Given the description of an element on the screen output the (x, y) to click on. 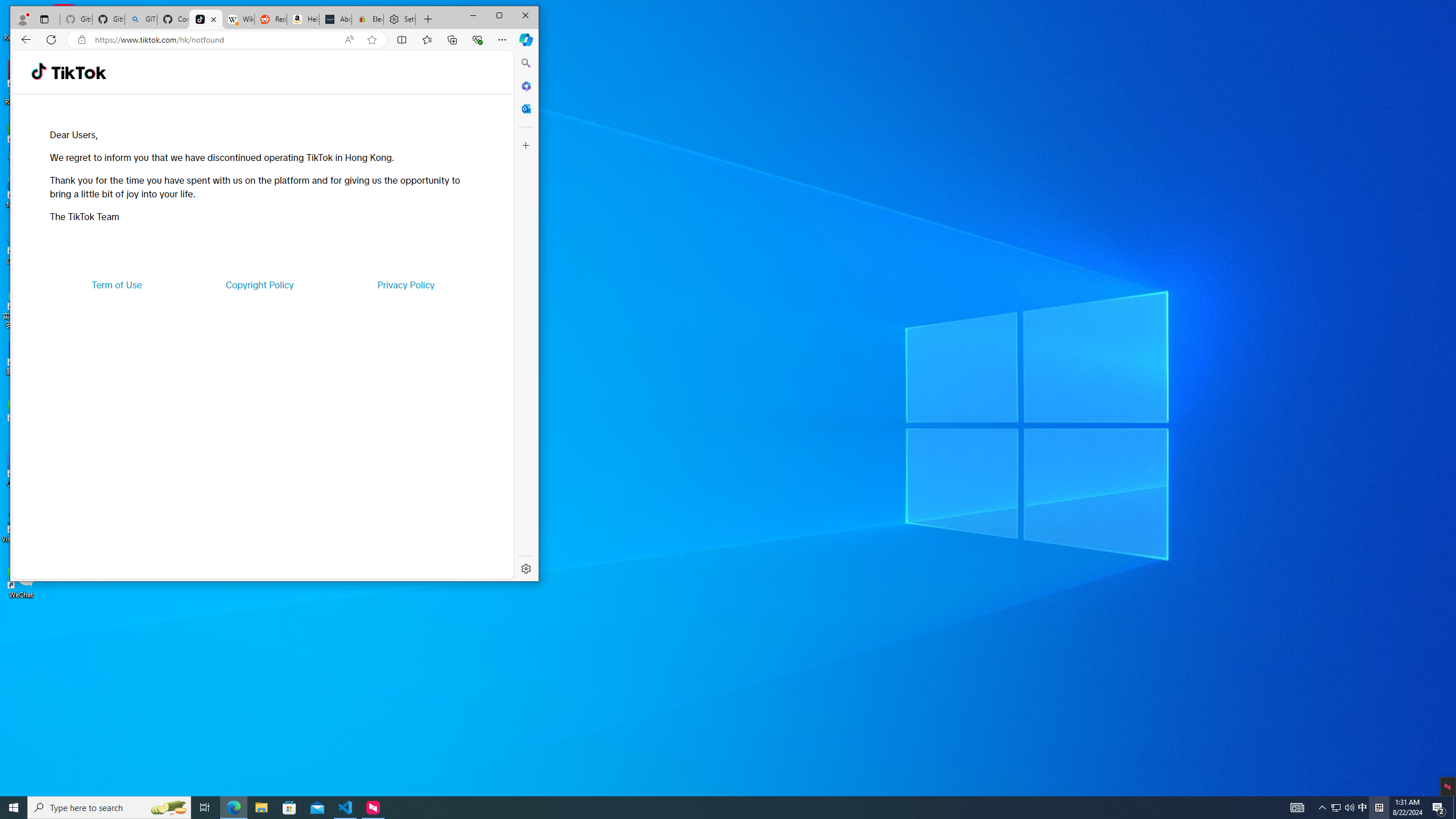
Maximize (499, 15)
User Promoted Notification Area (1342, 807)
AutomationID: 4105 (1297, 807)
GITHUB - Search (140, 19)
Start (13, 807)
Tray Input Indicator - Chinese (Simplified, China) (1378, 807)
Type here to search (108, 807)
Privacy Policy (405, 284)
Notification Chevron (1322, 807)
